Given the description of an element on the screen output the (x, y) to click on. 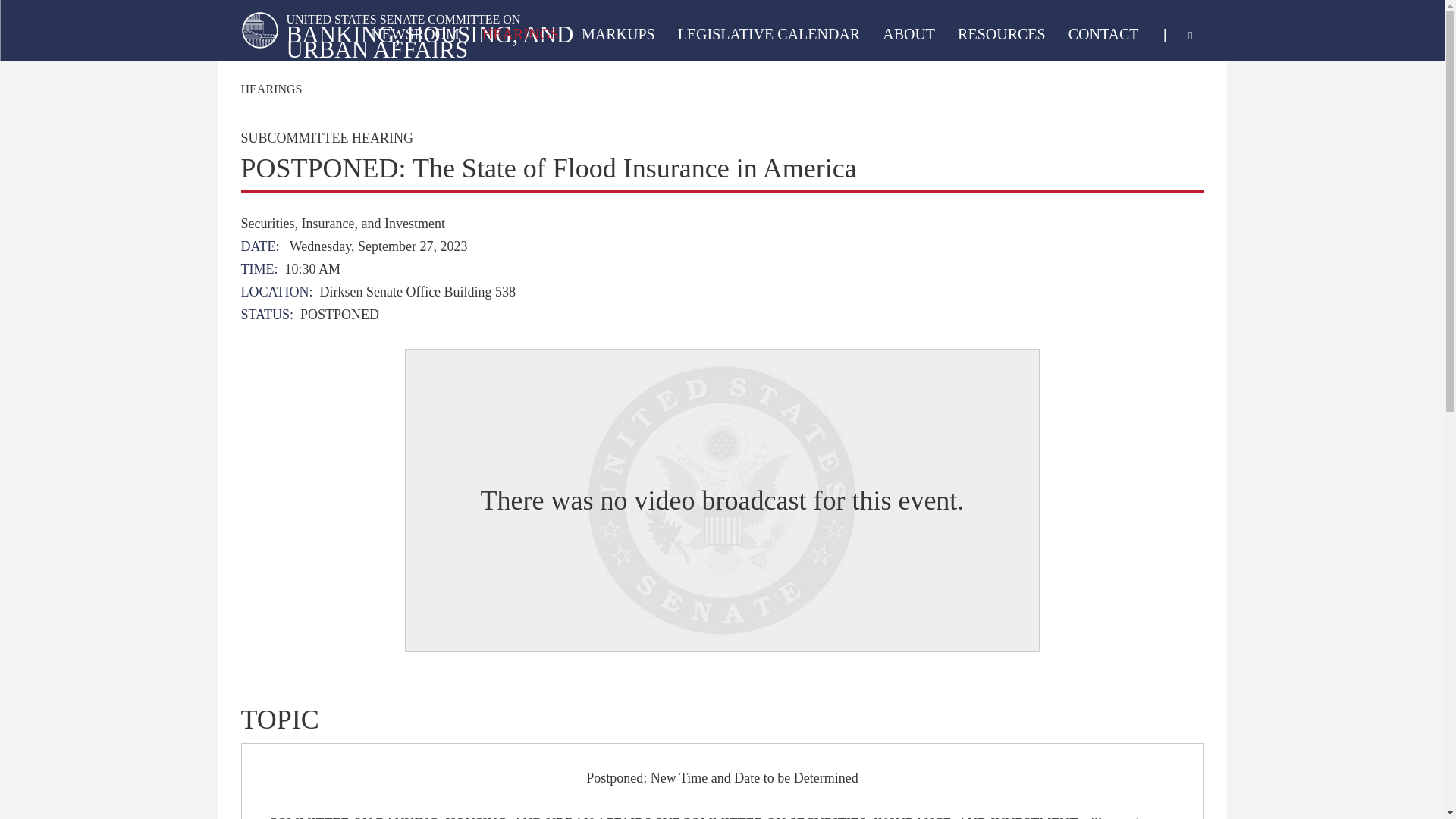
NEWSROOM (414, 36)
HEARINGS (520, 36)
